Given the description of an element on the screen output the (x, y) to click on. 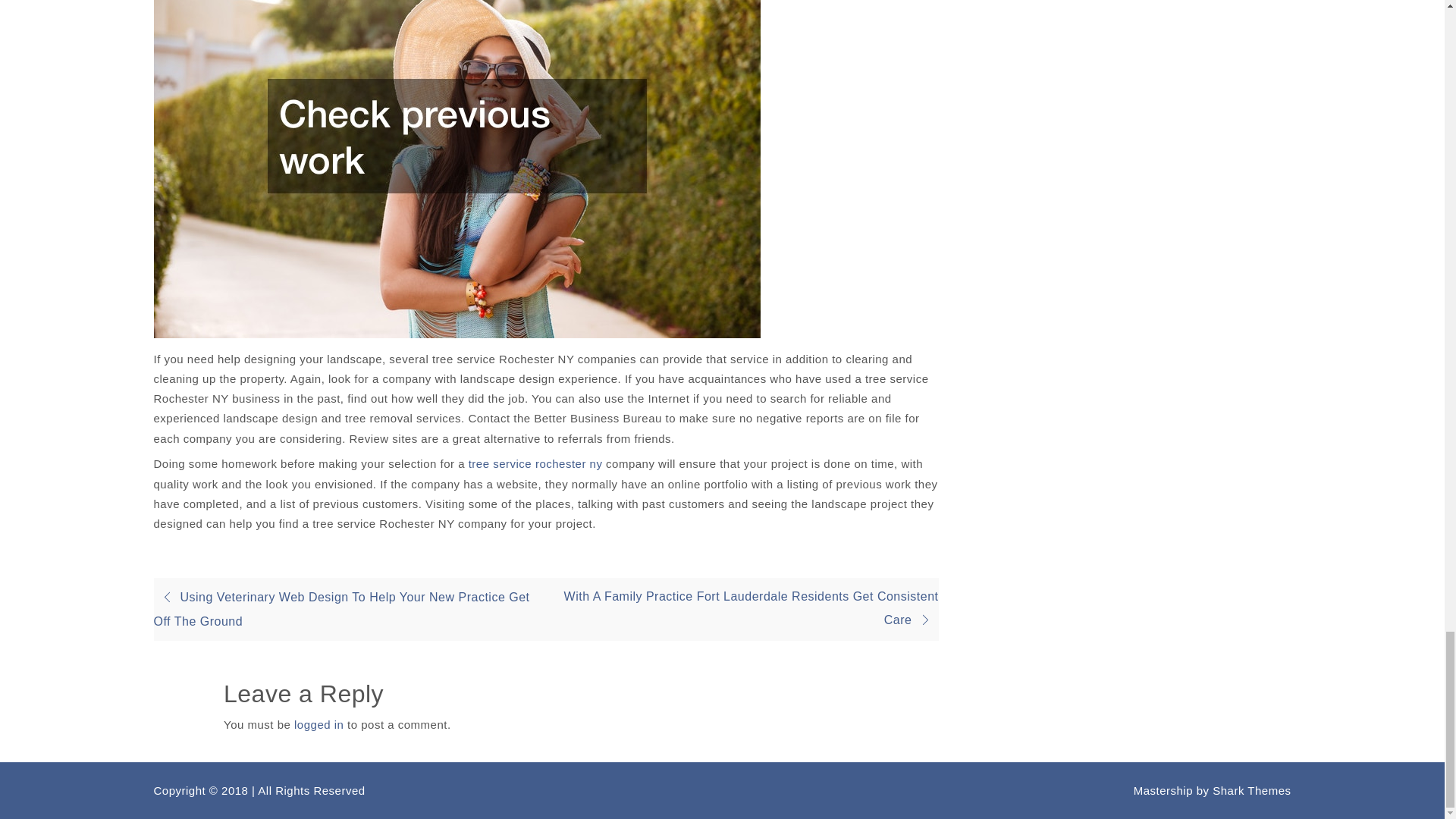
logged in (318, 724)
tree service rochester ny (535, 463)
